Given the description of an element on the screen output the (x, y) to click on. 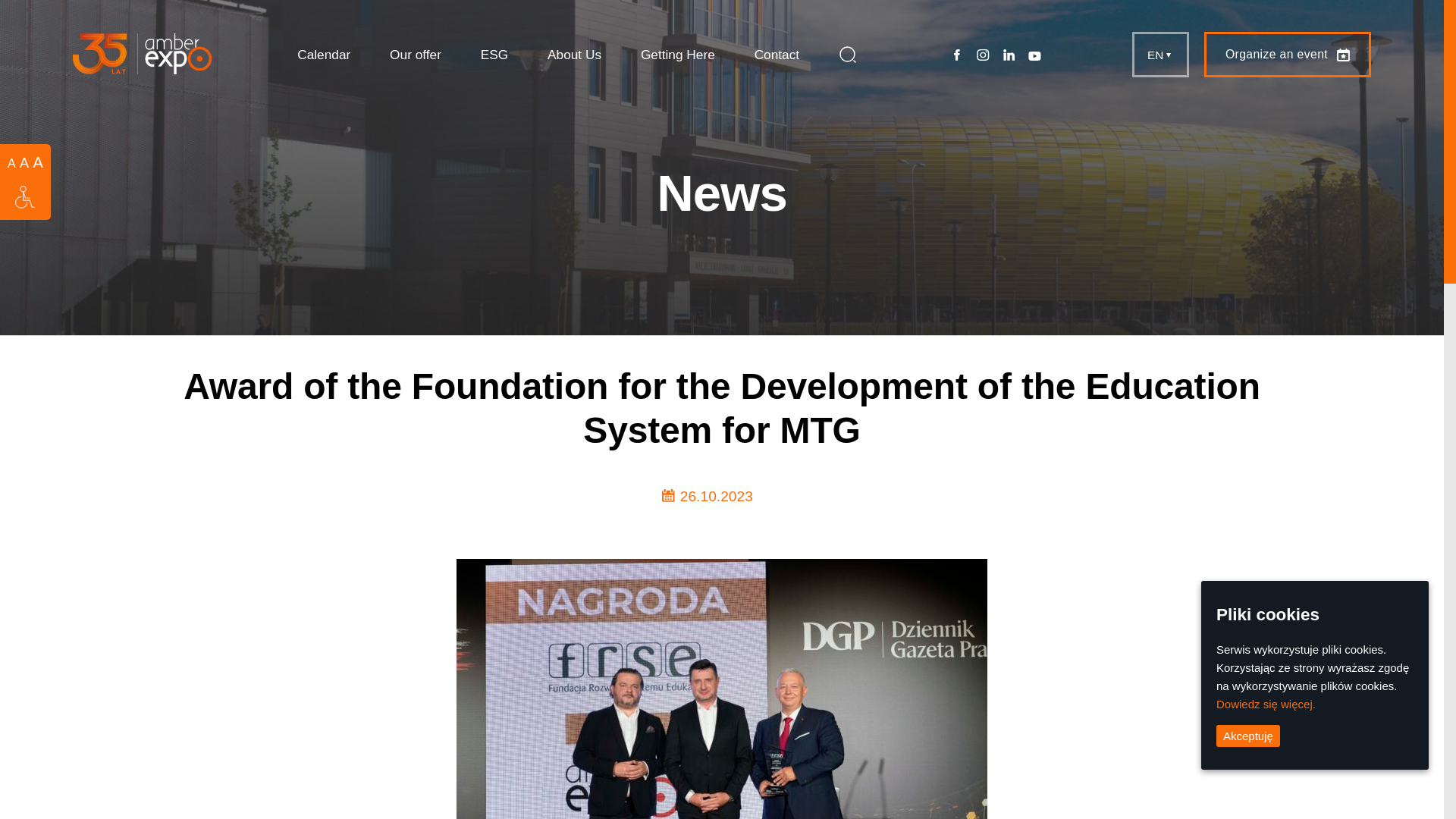
Organize an event (1287, 53)
Getting Here (677, 54)
EN (1160, 53)
ESG (494, 54)
Our offer (415, 54)
Calendar (323, 54)
About Us (574, 54)
Contact (776, 54)
